Given the description of an element on the screen output the (x, y) to click on. 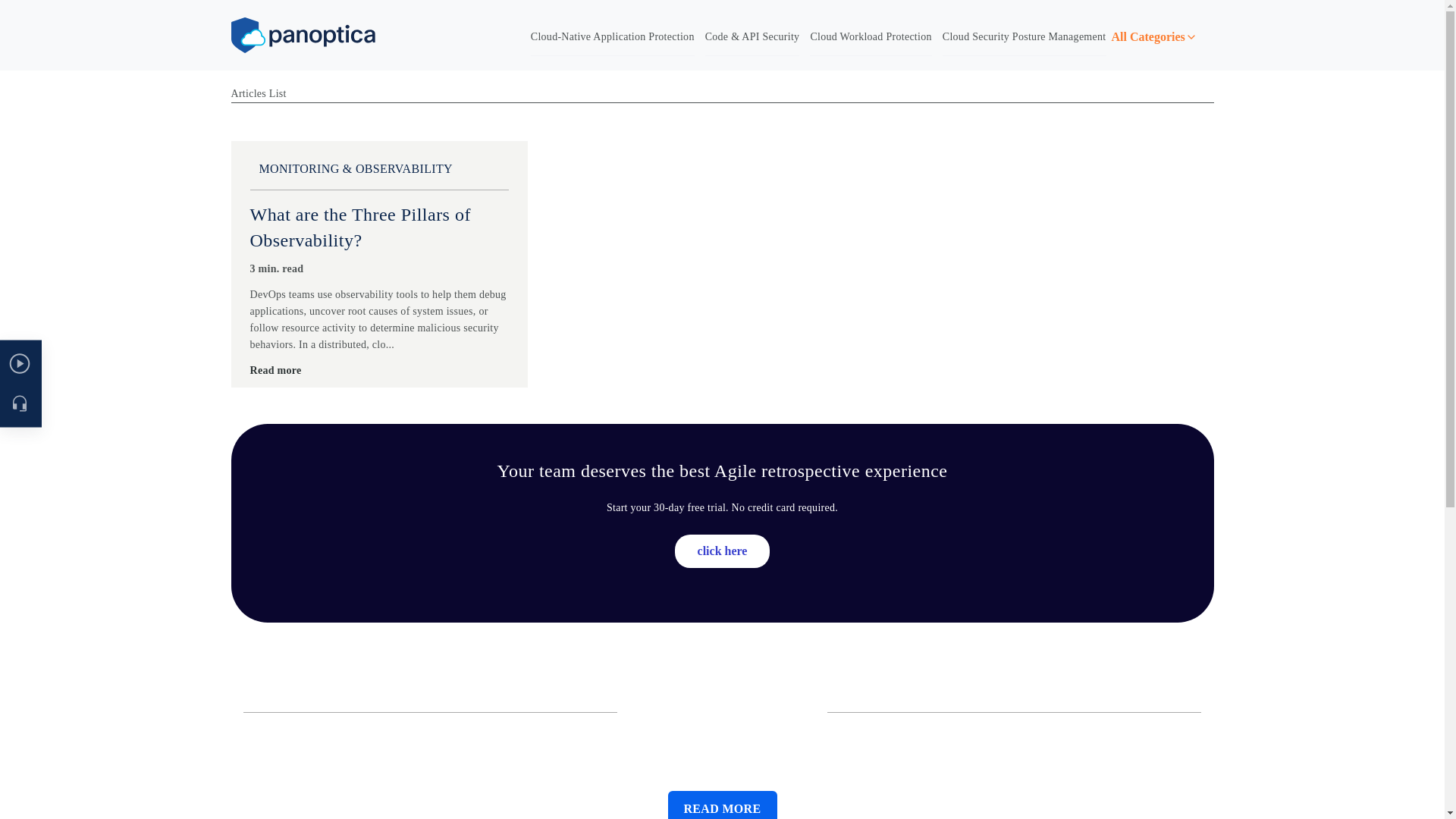
Read more (275, 370)
Cloud Security Posture Management (1024, 37)
READ MORE (721, 805)
Cloud Workload Protection (870, 37)
All Categories (1163, 37)
Watch Overview (95, 363)
Dropdown Icon (1190, 37)
click here (722, 551)
Cloud-Native Application Protection (612, 37)
What are the Three Pillars of Observability? (360, 227)
